Given the description of an element on the screen output the (x, y) to click on. 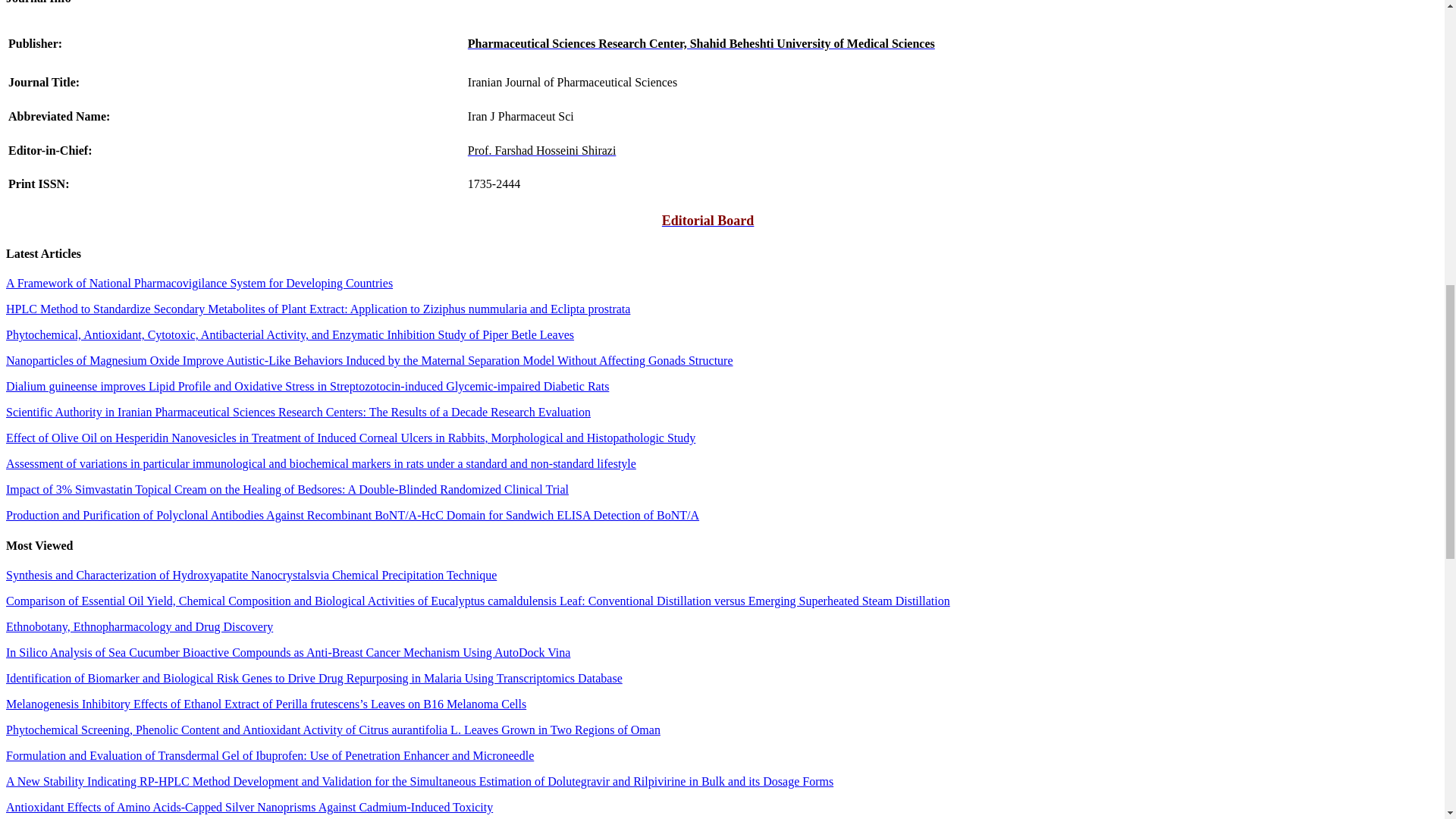
Prof. Farshad Hosseini Shirazi (541, 150)
Editorial Board (708, 220)
